Given the description of an element on the screen output the (x, y) to click on. 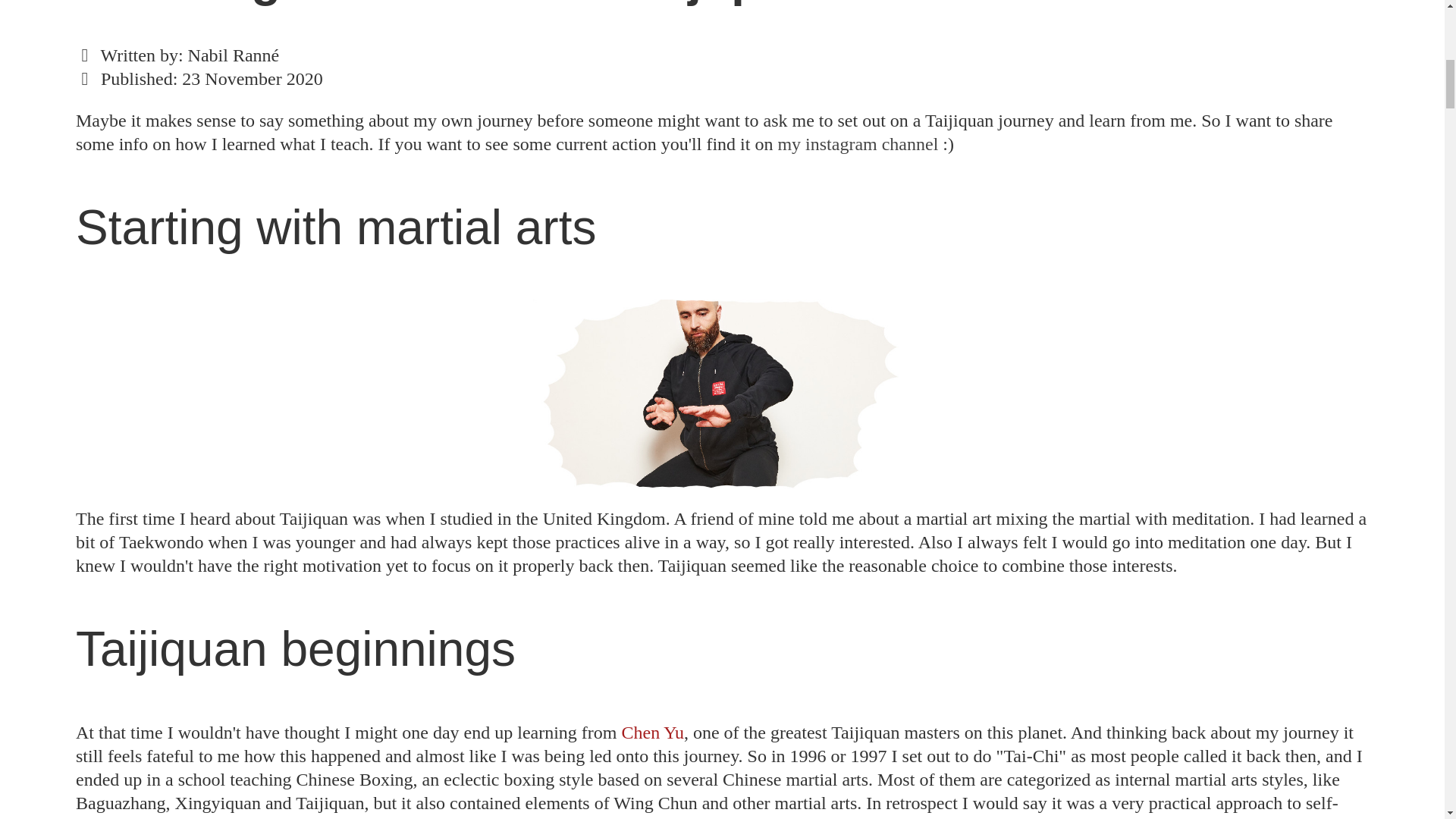
Chen Yu, Chen Zhaokui, Chen Fake, Chen Changxing (652, 732)
Chen Yu (652, 732)
my instagram channel (859, 143)
Taichi Instagram (859, 143)
